Given the description of an element on the screen output the (x, y) to click on. 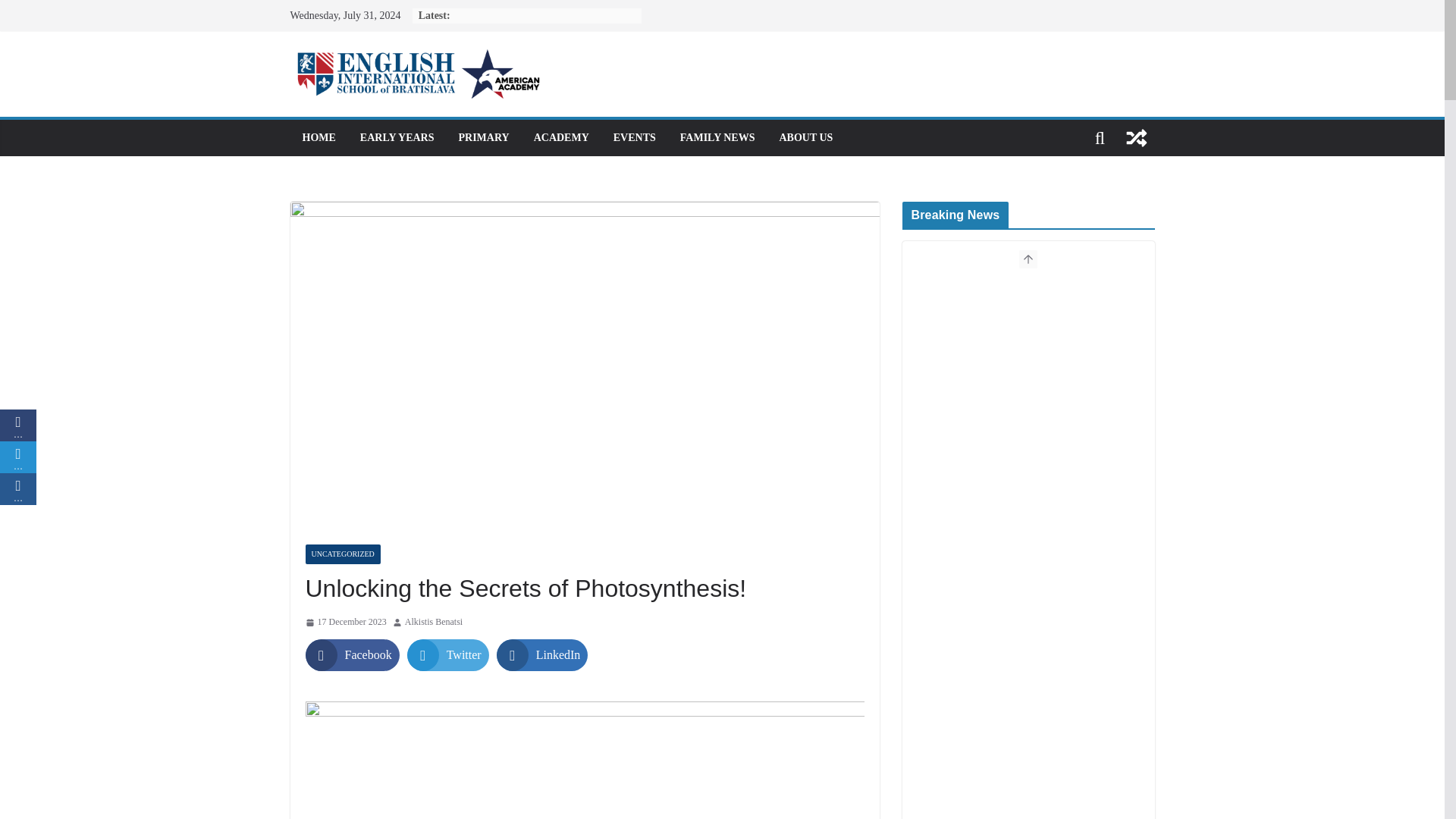
15:35 (344, 622)
Alkistis Benatsi (433, 622)
Alkistis Benatsi (433, 622)
PRIMARY (483, 137)
EVENTS (634, 137)
LinkedIn (542, 654)
EARLY YEARS (396, 137)
HOME (317, 137)
17 December 2023 (344, 622)
ABOUT US (805, 137)
